Given the description of an element on the screen output the (x, y) to click on. 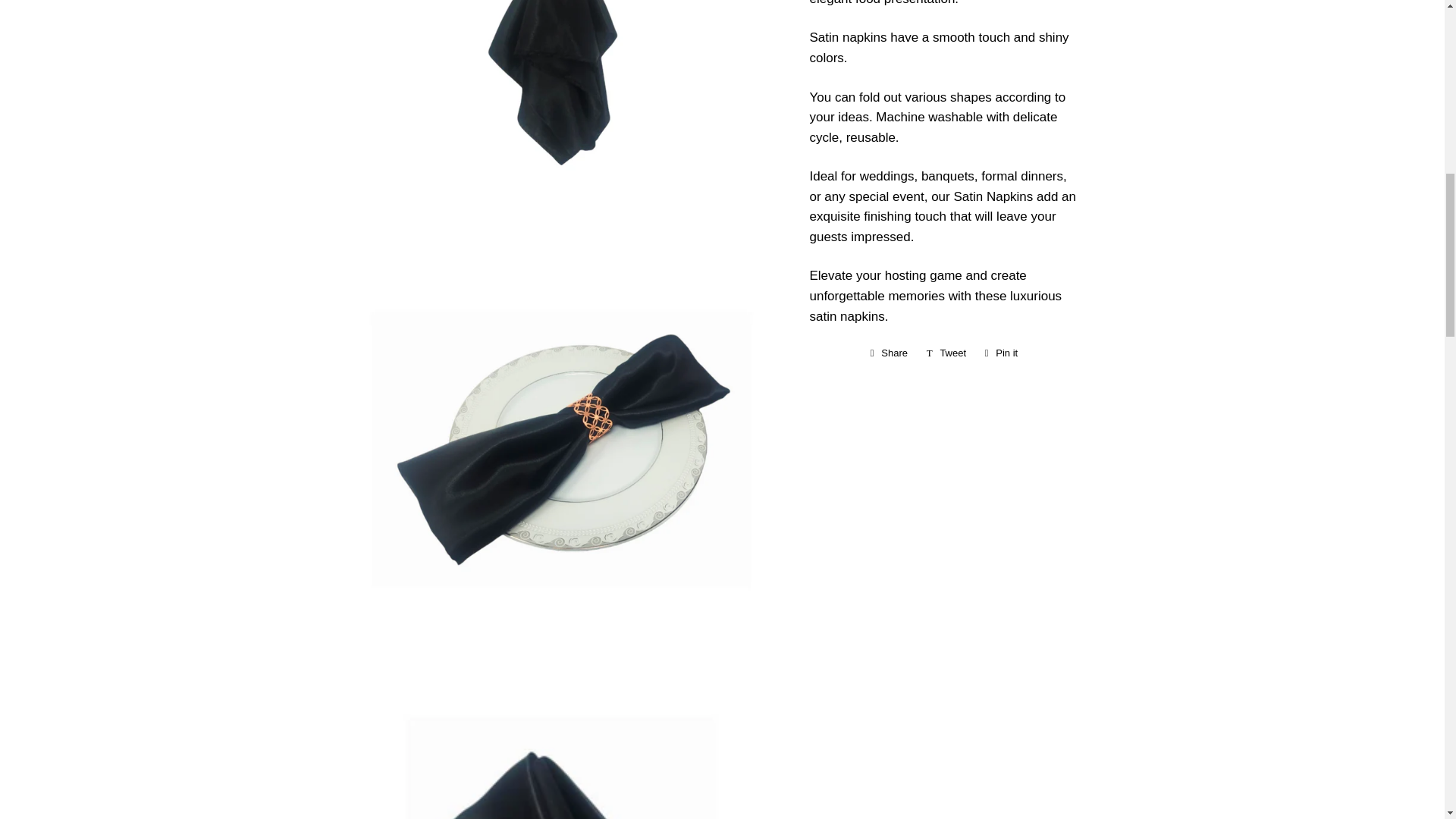
Tweet on Twitter (946, 353)
Pin on Pinterest (1000, 353)
Share on Facebook (889, 353)
